Given the description of an element on the screen output the (x, y) to click on. 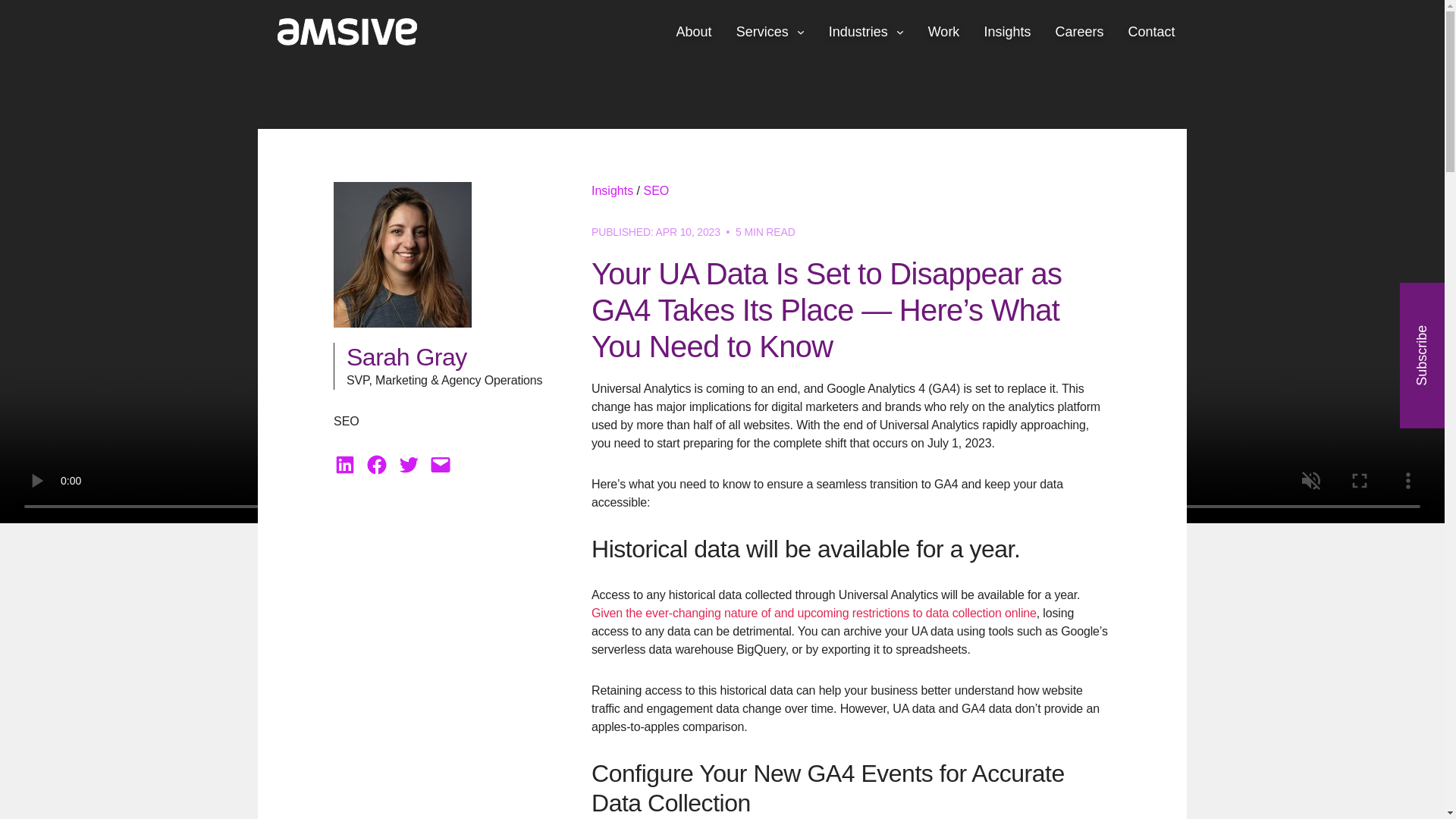
Industries (866, 31)
Facebook (376, 464)
Twitter (408, 464)
Share via Email (440, 464)
LinkedIn (344, 464)
Services (770, 31)
Homepage (339, 31)
